Given the description of an element on the screen output the (x, y) to click on. 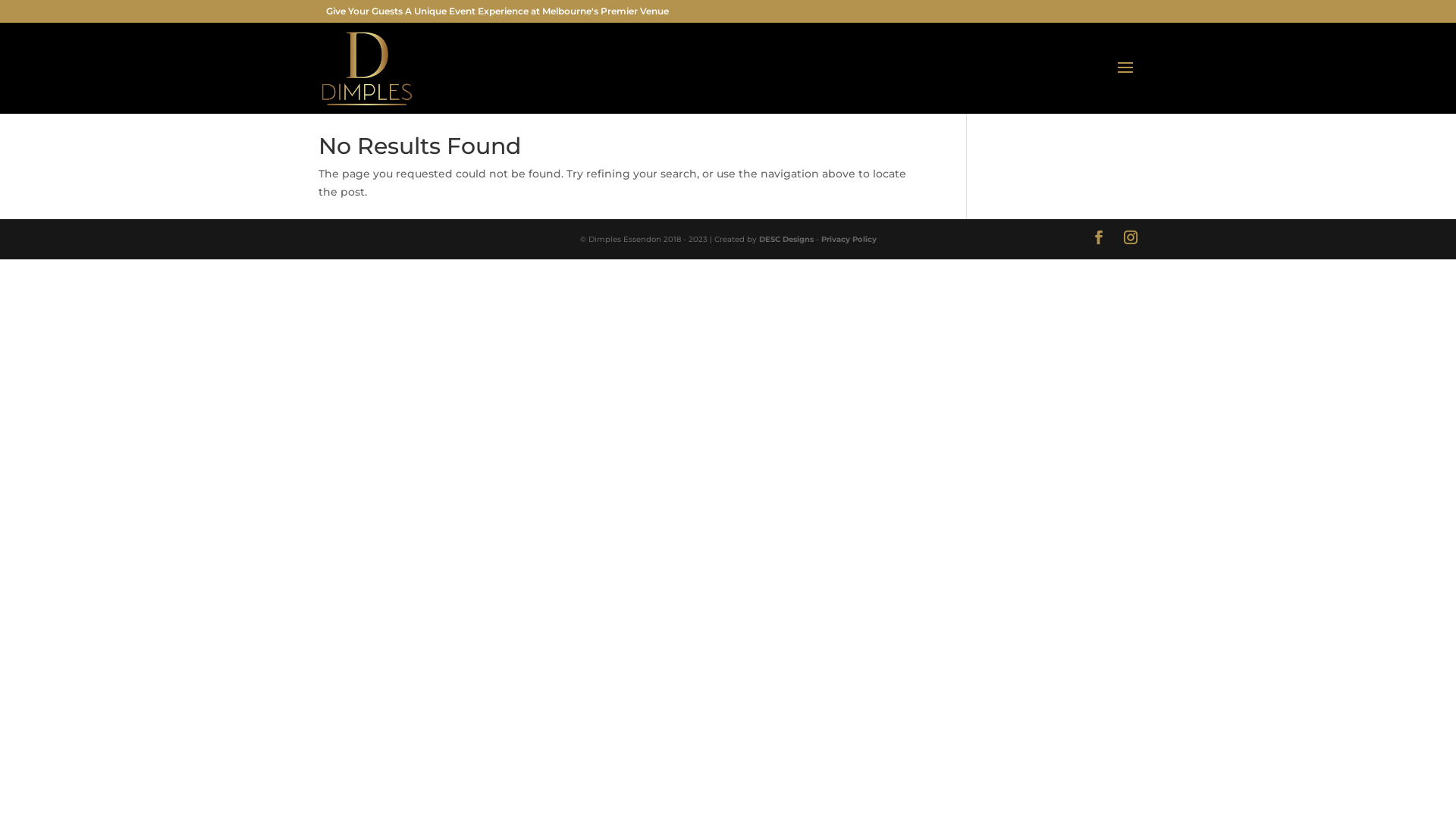
DESC Designs Element type: text (785, 239)
Privacy Policy Element type: text (847, 239)
